Given the description of an element on the screen output the (x, y) to click on. 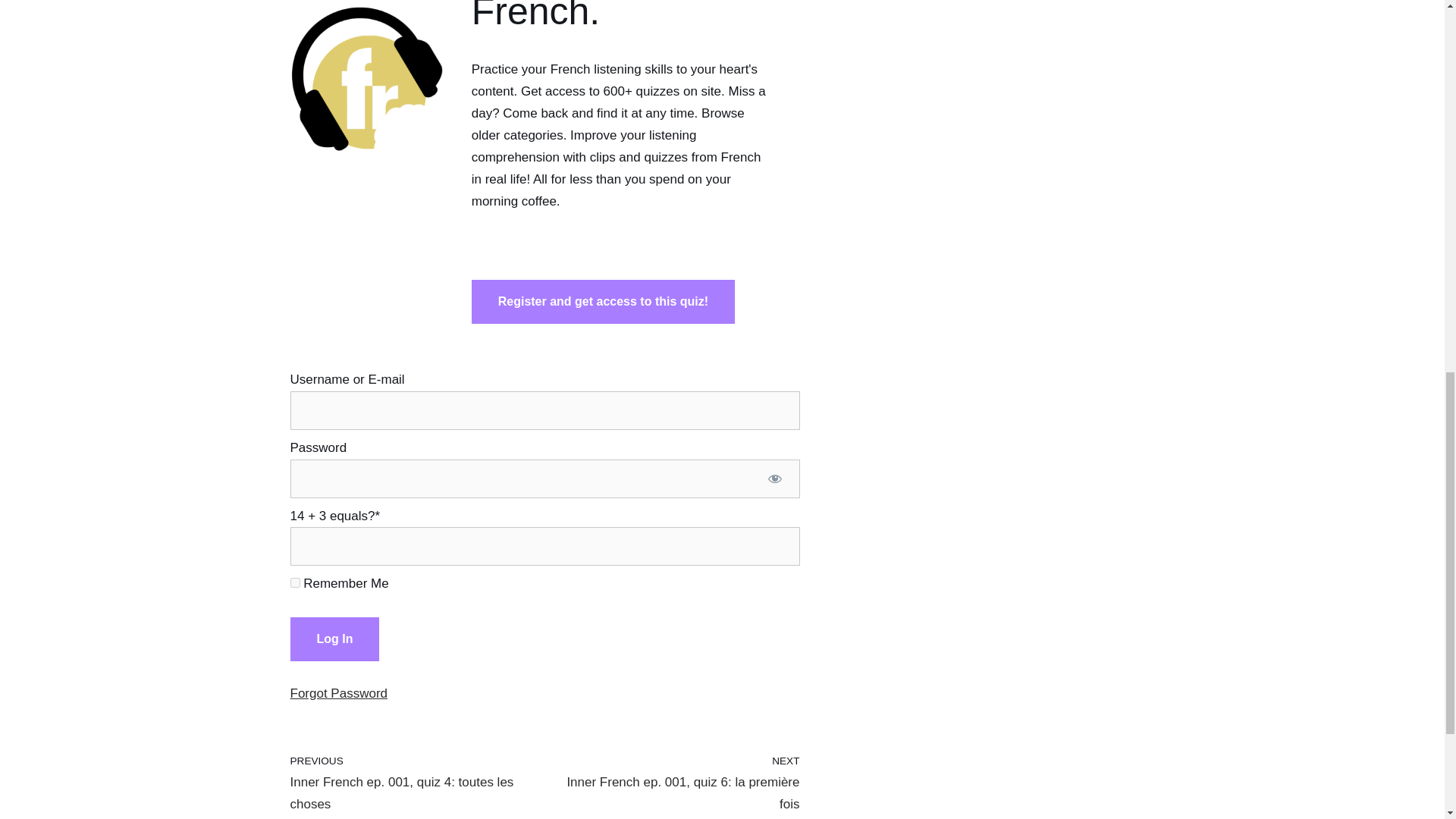
Log In (333, 638)
Register and get access to this quiz! (603, 301)
forever (294, 583)
Log In (333, 638)
Forgot Password (413, 783)
